Given the description of an element on the screen output the (x, y) to click on. 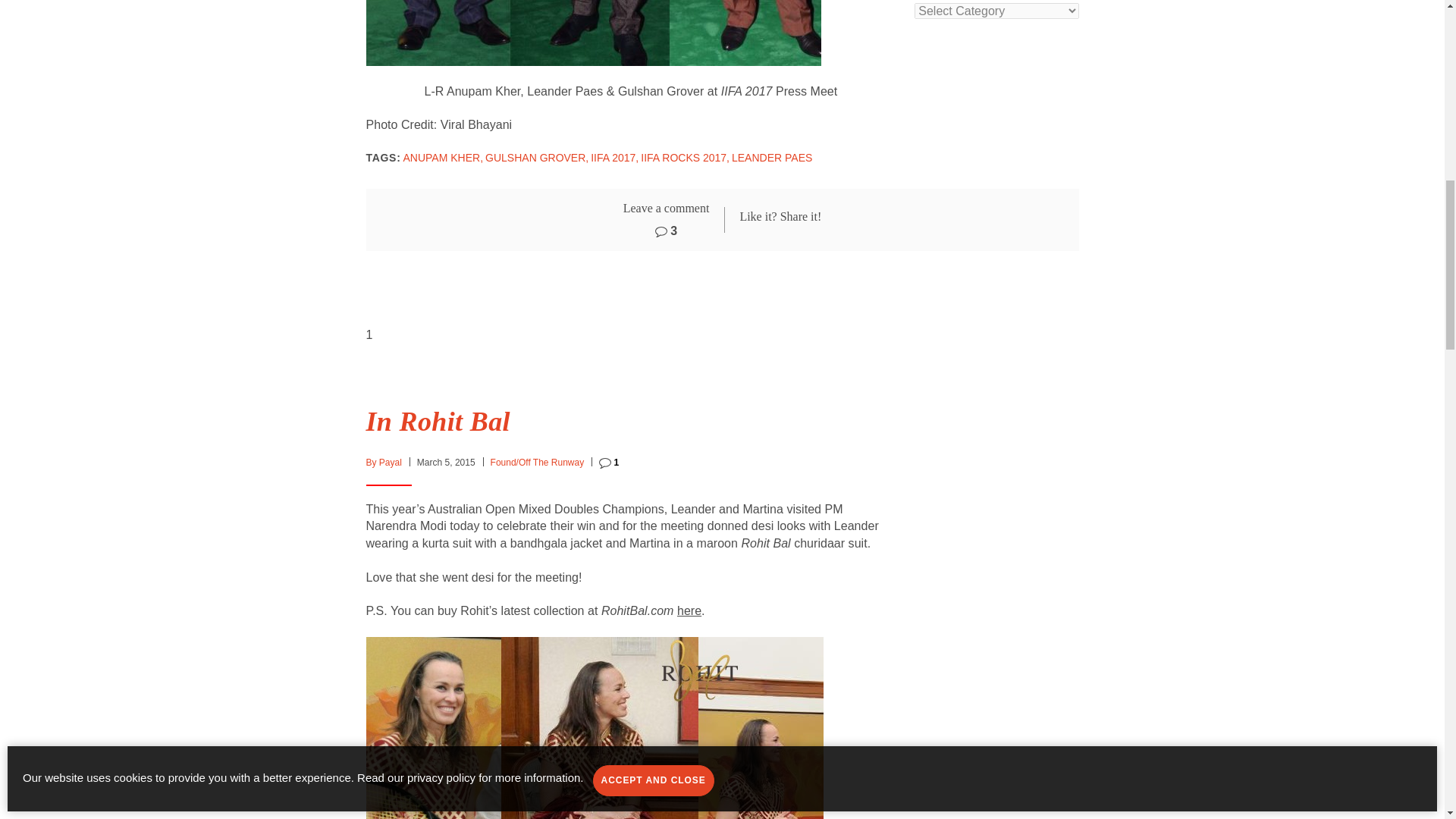
By Payal (383, 462)
In Rohit Bal (437, 421)
3 (666, 230)
IIFA ROCKS 2017, (684, 157)
GULSHAN GROVER, (536, 157)
here (689, 610)
LEANDER PAES (772, 157)
IIFA 2017, (615, 157)
1 (608, 462)
ANUPAM KHER, (443, 157)
